Given the description of an element on the screen output the (x, y) to click on. 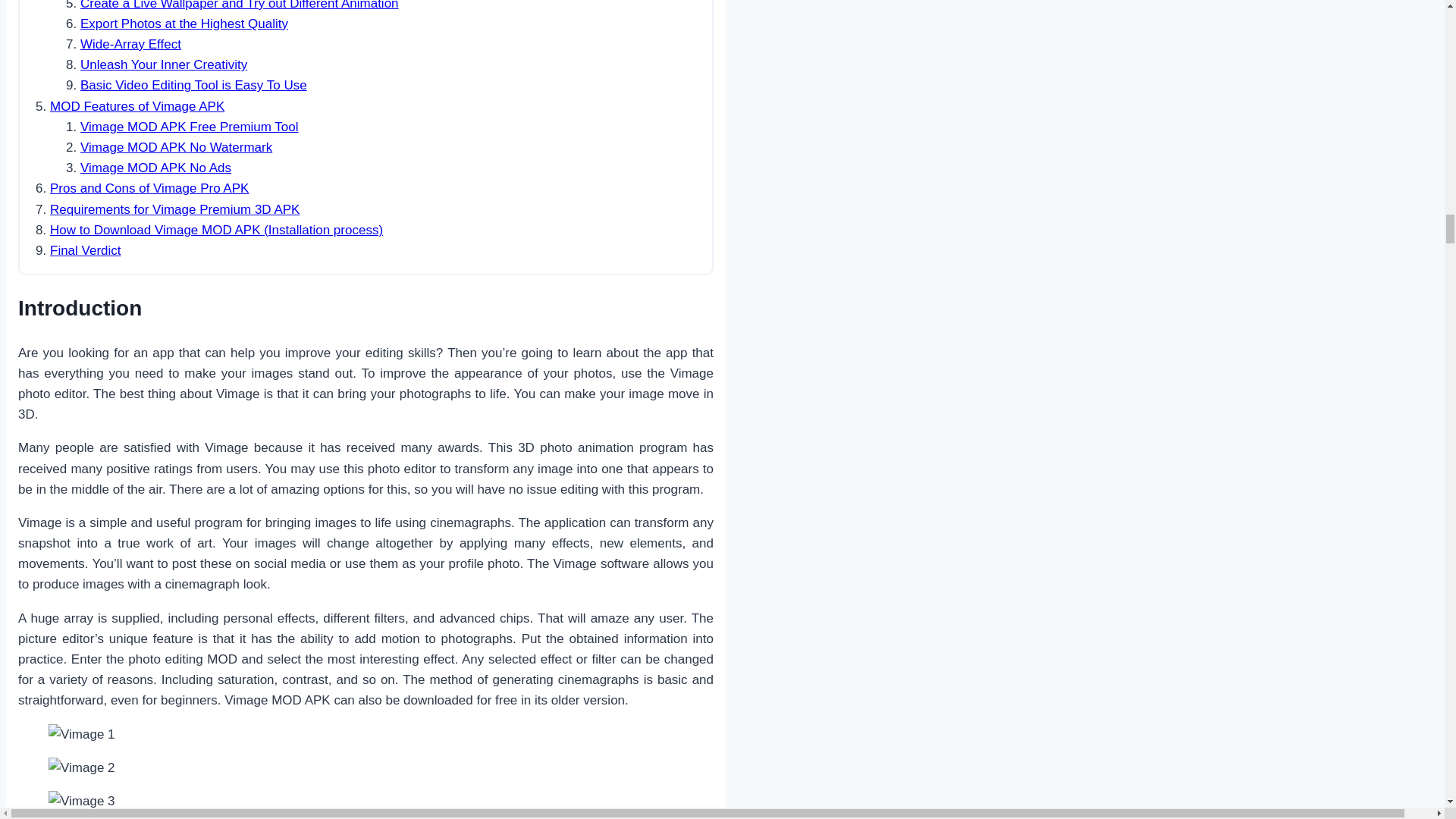
Wide-Array Effect (130, 43)
Export Photos at the Highest Quality (184, 23)
Create a Live Wallpaper and Try out Different Animation (239, 5)
